Given the description of an element on the screen output the (x, y) to click on. 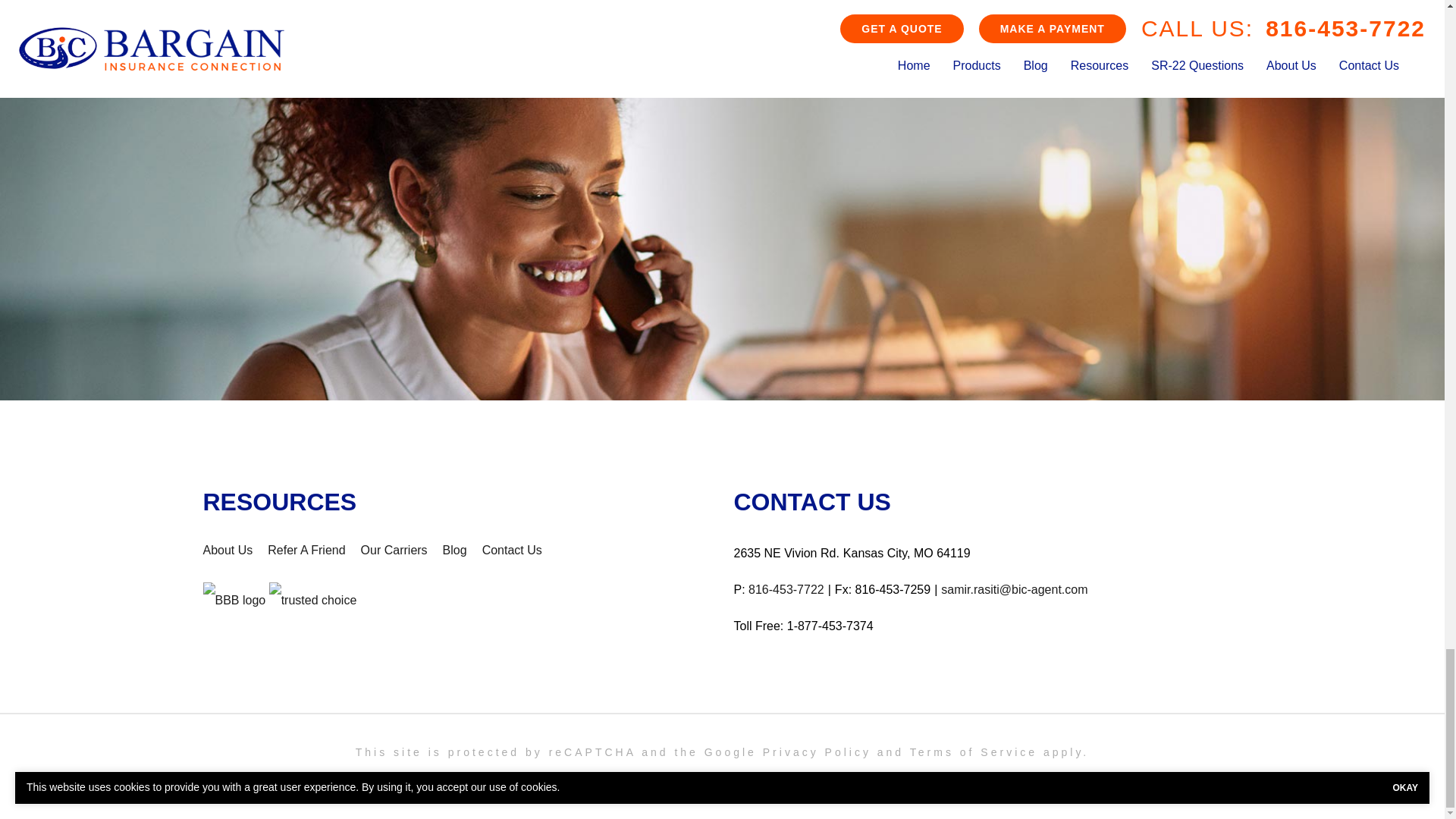
Insurance Website Builder (880, 779)
